Given the description of an element on the screen output the (x, y) to click on. 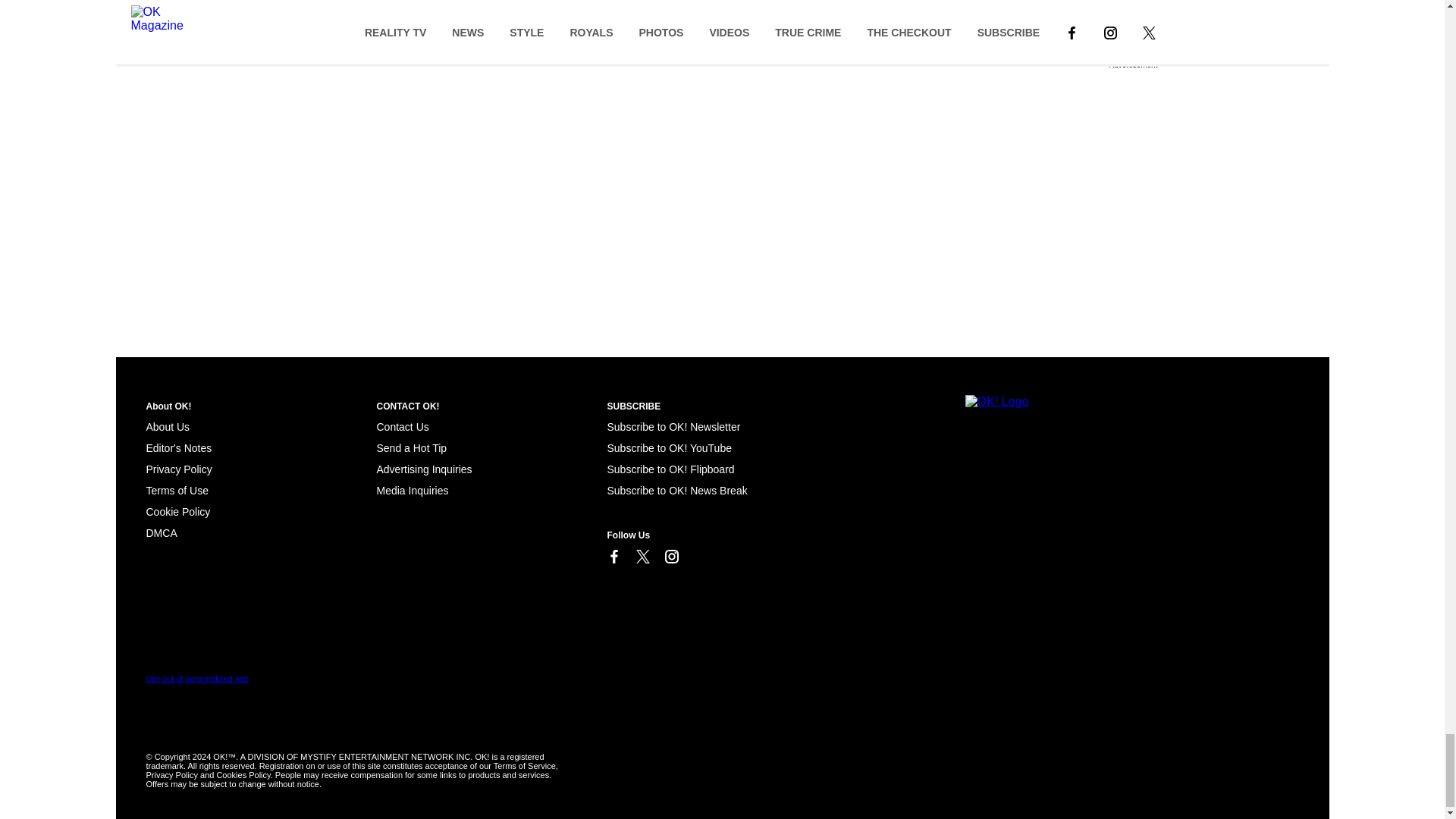
About Us (167, 426)
Link to X (641, 556)
Send a Hot Tip (410, 448)
Advertising Inquiries (423, 469)
Link to Facebook (613, 556)
Terms of Use (176, 490)
Editor's Notes (178, 448)
Media Inquiries (411, 490)
Cookie Policy (160, 532)
Cookie Policy (177, 511)
Contact Us (401, 426)
Privacy Policy (178, 469)
Link to Instagram (670, 556)
